Given the description of an element on the screen output the (x, y) to click on. 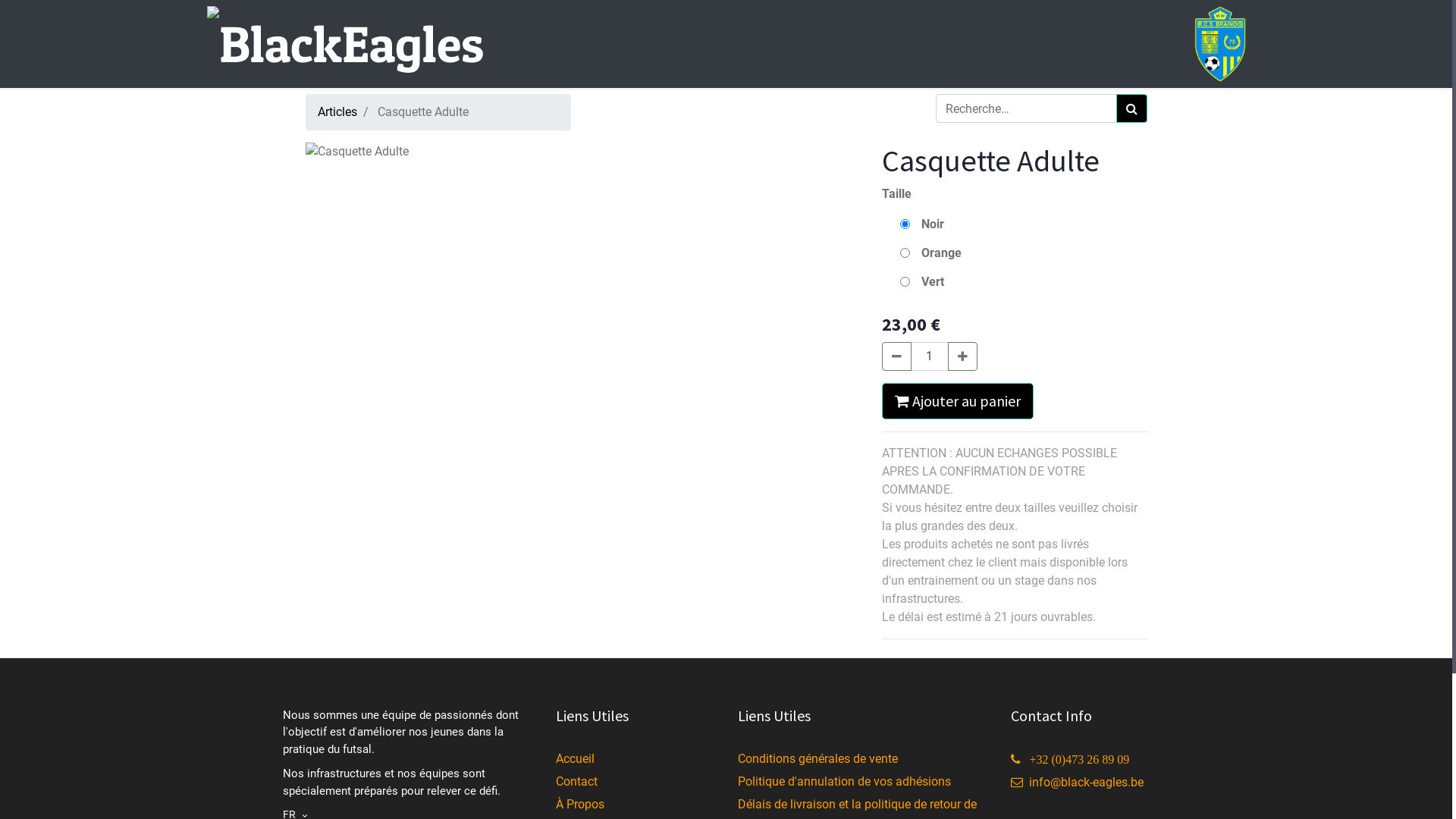
Articles Element type: text (336, 111)
info@black-eagles.be Element type: text (1076, 782)
Supprimer Element type: hover (895, 356)
Ajouter au panier Element type: text (956, 400)
Accueil Element type: text (574, 758)
Ajouter Element type: hover (962, 356)
+32 (0)473 26 89 09 Element type: text (1069, 759)
Contact Element type: text (575, 781)
Rechercher Element type: hover (1131, 108)
BlackEagles Element type: hover (344, 43)
RCS Brainois Element type: hover (1219, 43)
